Given the description of an element on the screen output the (x, y) to click on. 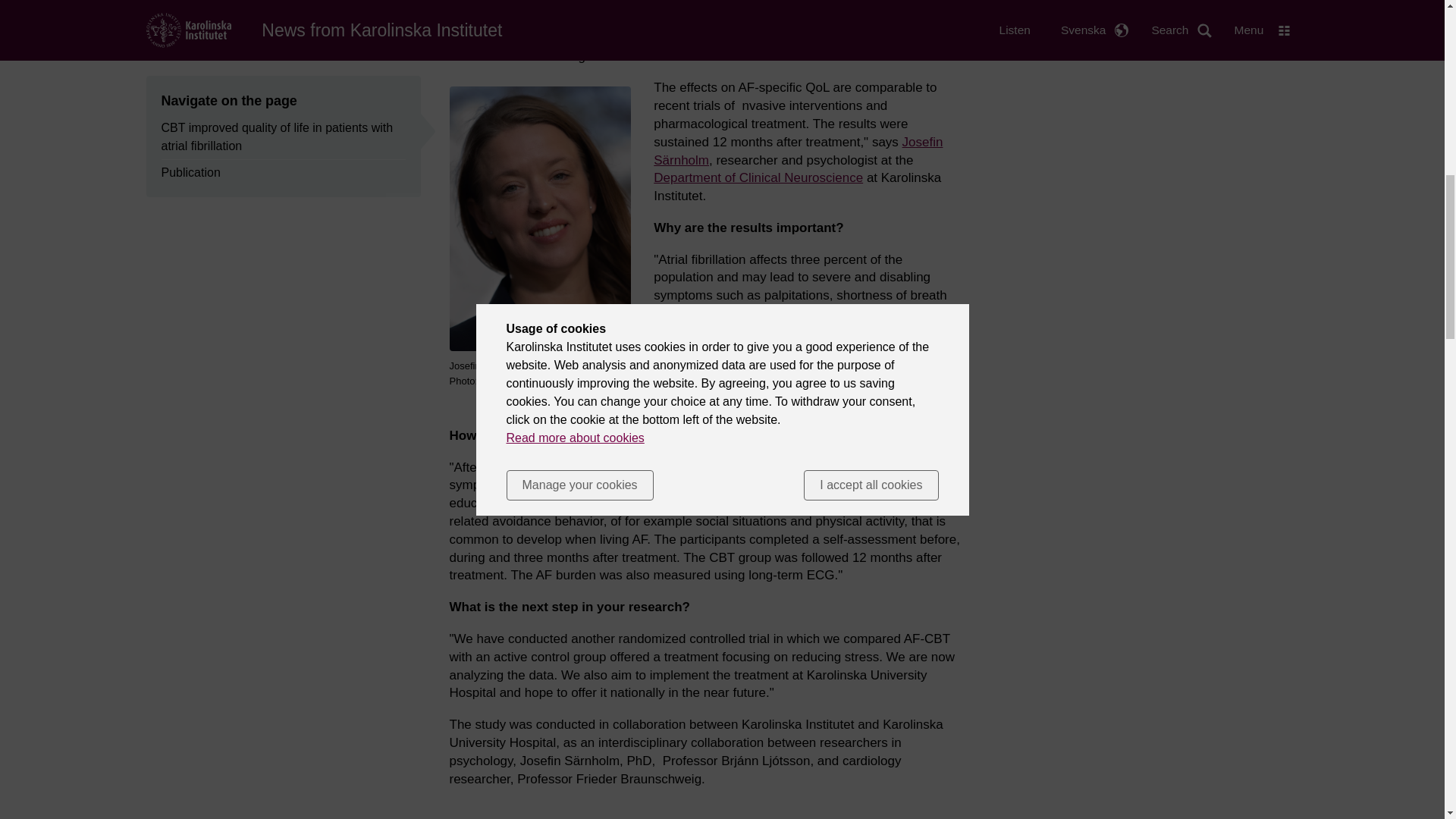
Department of Clinical Neuroscience (758, 177)
